Given the description of an element on the screen output the (x, y) to click on. 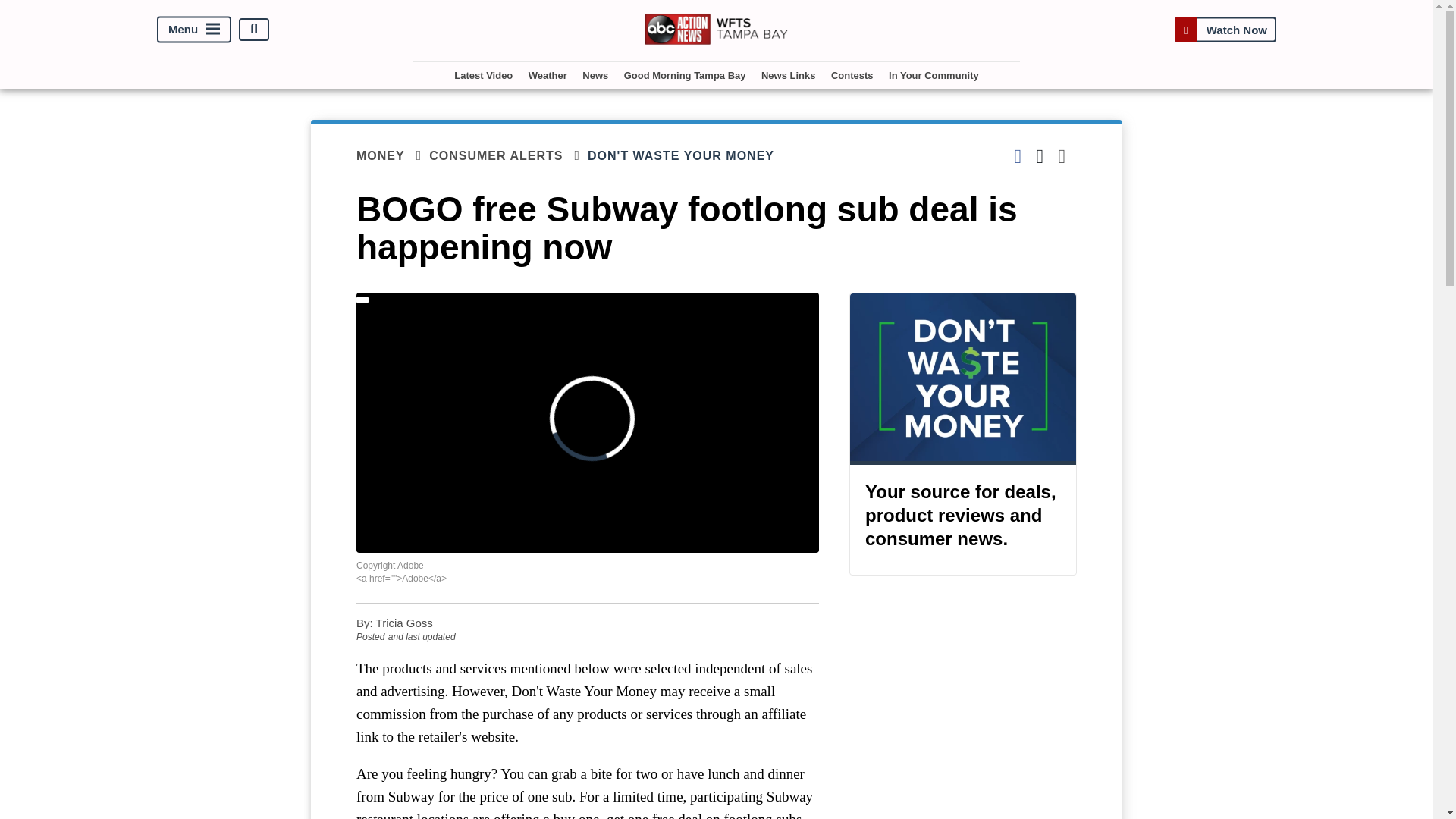
Menu (194, 28)
Watch Now (1224, 29)
